Given the description of an element on the screen output the (x, y) to click on. 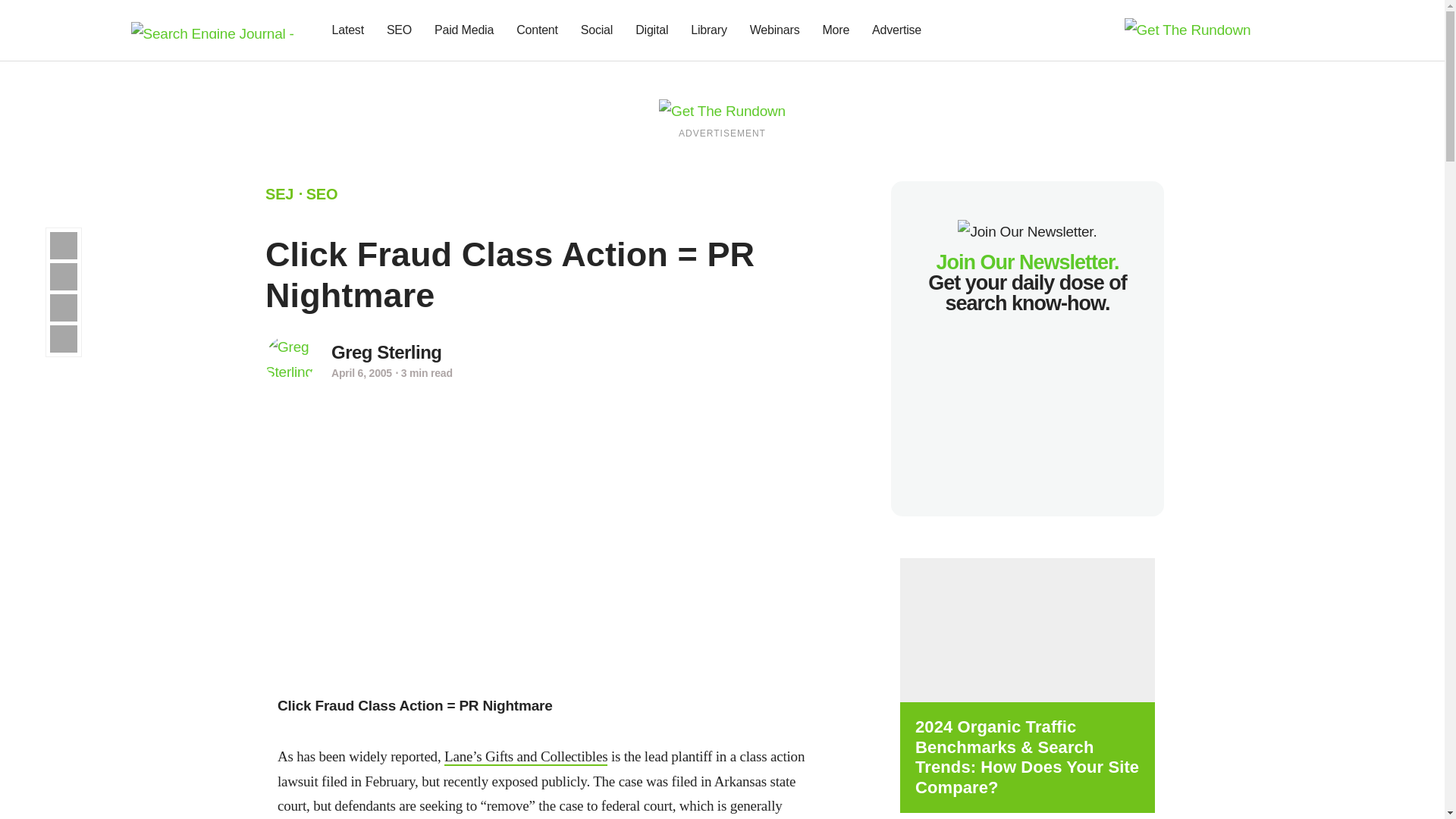
Get The Rundown (722, 109)
Paid Media (464, 30)
Go to Author Page (386, 352)
Get The Rundown (1187, 28)
Register Now (1026, 628)
Latest (347, 30)
Subscribe to our Newsletter (1277, 30)
Go to Author Page (289, 359)
